Given the description of an element on the screen output the (x, y) to click on. 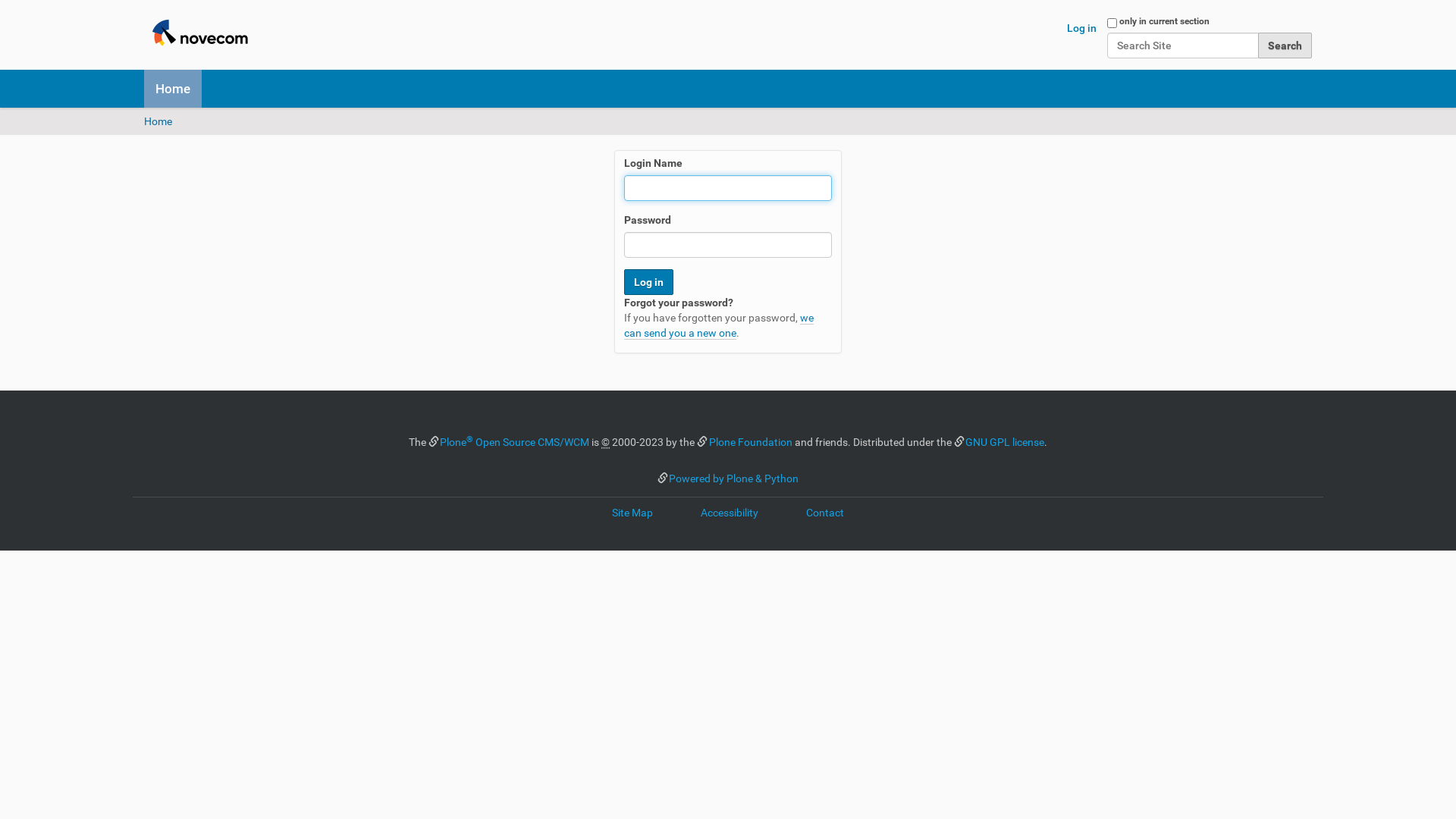
Search Site Element type: hover (1182, 45)
Home Element type: text (172, 88)
GNU GPL license Element type: text (1004, 442)
Home Element type: text (158, 121)
Contact Element type: text (825, 512)
Plone Foundation Element type: text (750, 442)
Log in Element type: text (1081, 27)
Accessibility Element type: text (729, 512)
Search Element type: text (1284, 45)
Novecom Information Centre Element type: hover (200, 33)
we can send you a new one Element type: text (718, 325)
Site Map Element type: text (631, 512)
Log in Element type: text (648, 281)
Powered by Plone & Python Element type: text (733, 478)
